Given the description of an element on the screen output the (x, y) to click on. 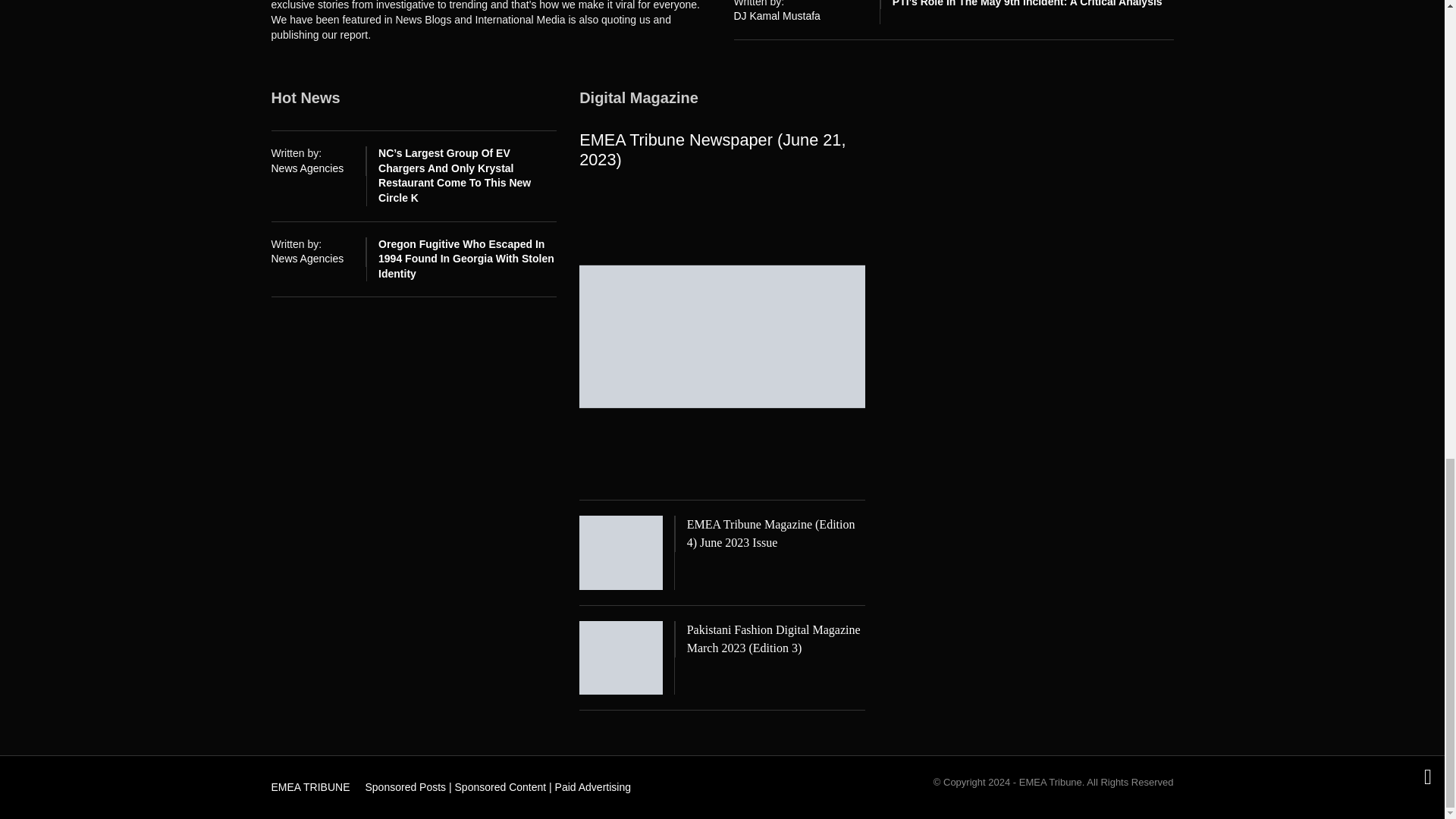
Skip to content (303, 782)
